Given the description of an element on the screen output the (x, y) to click on. 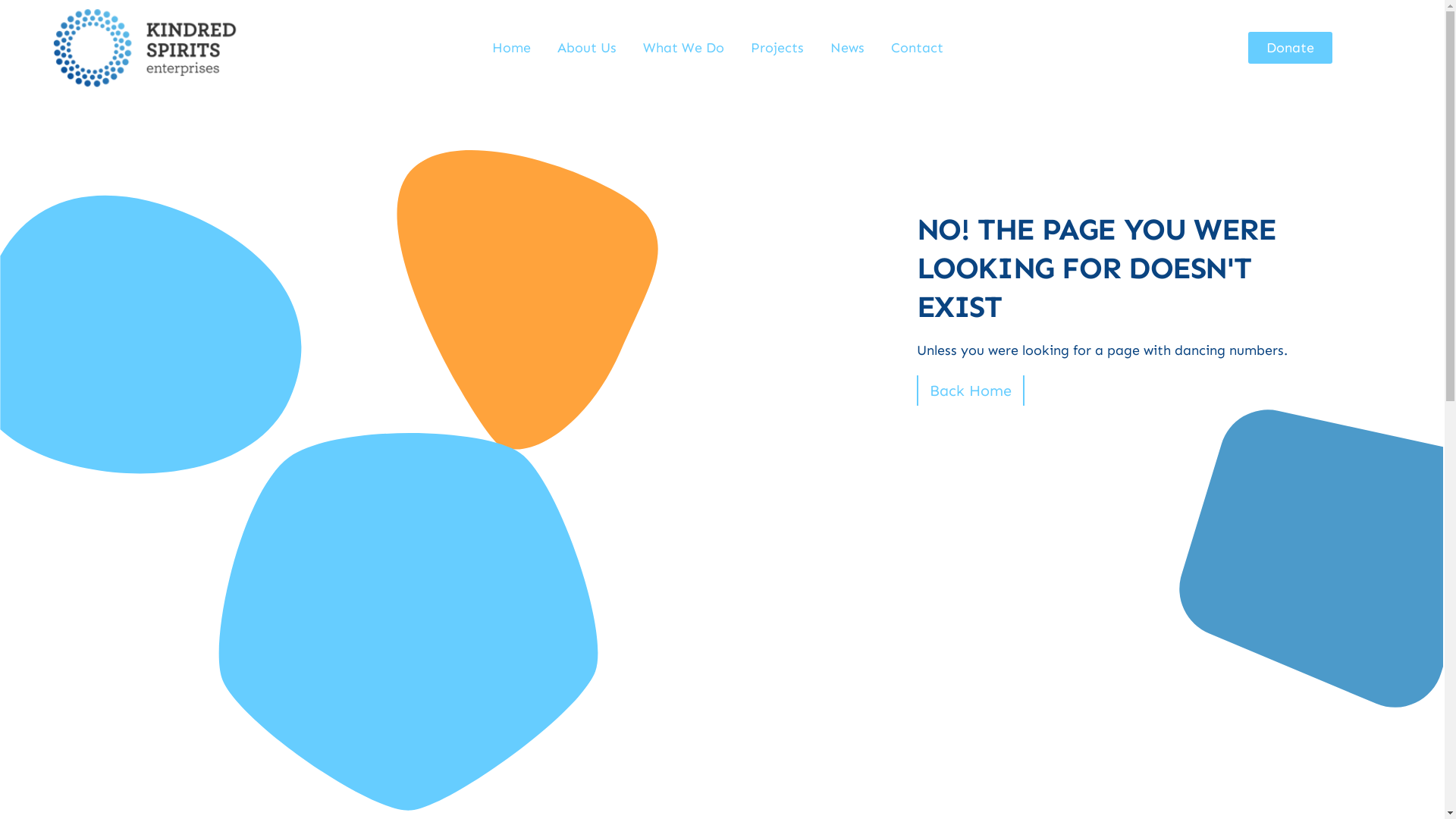
Home Element type: text (511, 47)
Contact Element type: text (917, 47)
News Element type: text (847, 47)
About Us Element type: text (586, 47)
Donate Element type: text (1290, 47)
Projects Element type: text (776, 47)
Back Home Element type: text (969, 390)
What We Do Element type: text (683, 47)
